Given the description of an element on the screen output the (x, y) to click on. 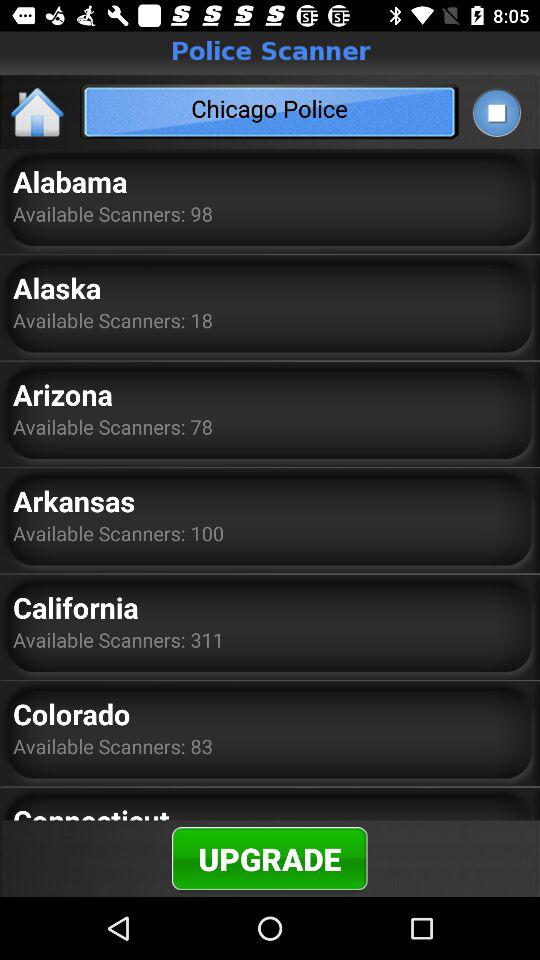
go to home screen (38, 111)
